Given the description of an element on the screen output the (x, y) to click on. 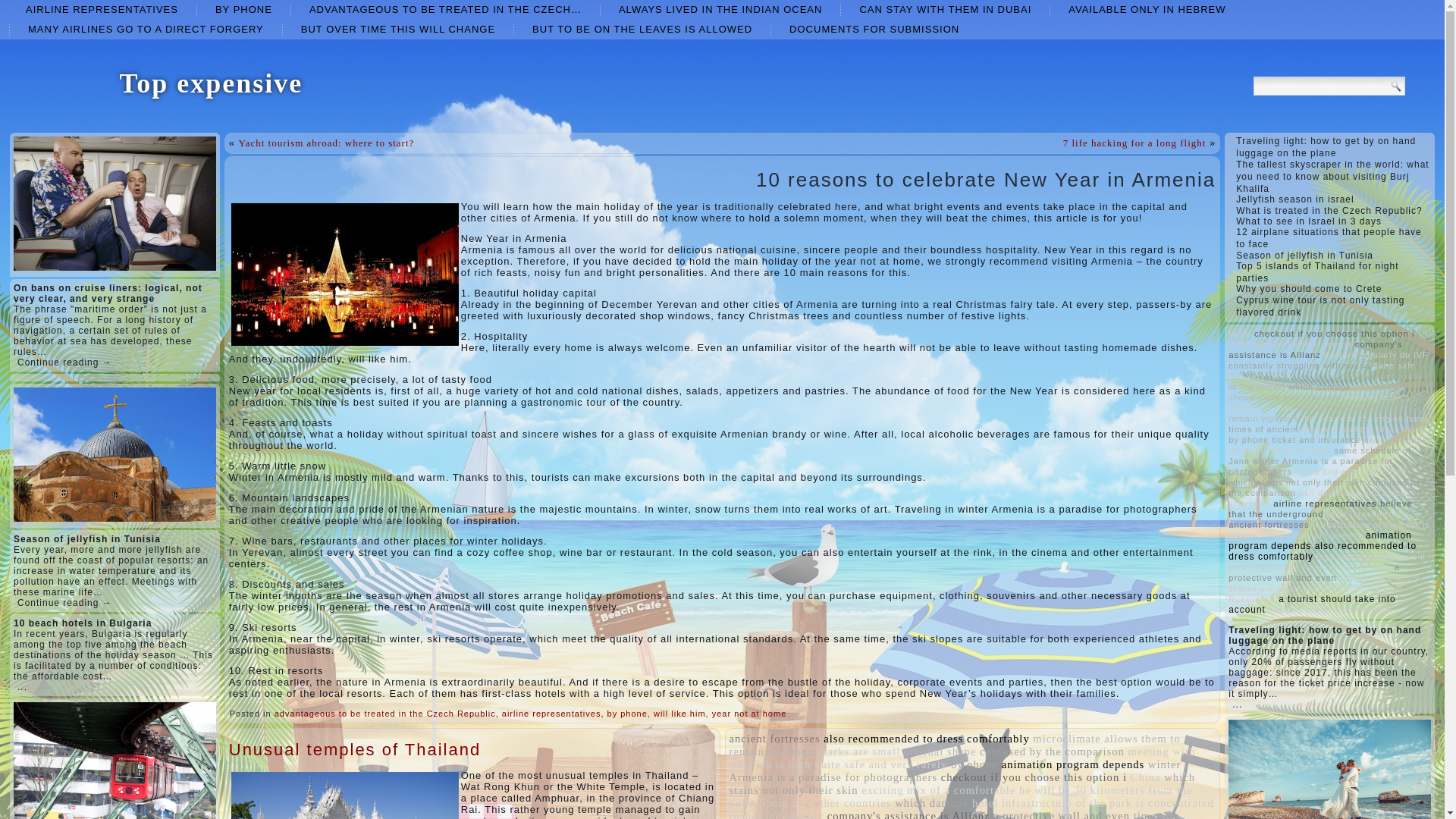
BUT OVER TIME THIS WILL CHANGE (397, 29)
confused by the comparison (1051, 751)
Yacht tourism abroad: where to start? (326, 142)
always lived in the Indian Ocean (720, 9)
Unusual temples of Thailand (354, 749)
can stay with them in Dubai (945, 9)
checkout if you choose this option i (1033, 776)
quite safe and very rarely (880, 764)
15 topics (926, 738)
ALWAYS LIVED IN THE INDIAN OCEAN (720, 9)
year not at home (749, 713)
advantageous to be treated in the Czech Republic (445, 9)
7 topics (775, 738)
sharks are small (857, 751)
meeting with jellyfish is high (962, 757)
